Given the description of an element on the screen output the (x, y) to click on. 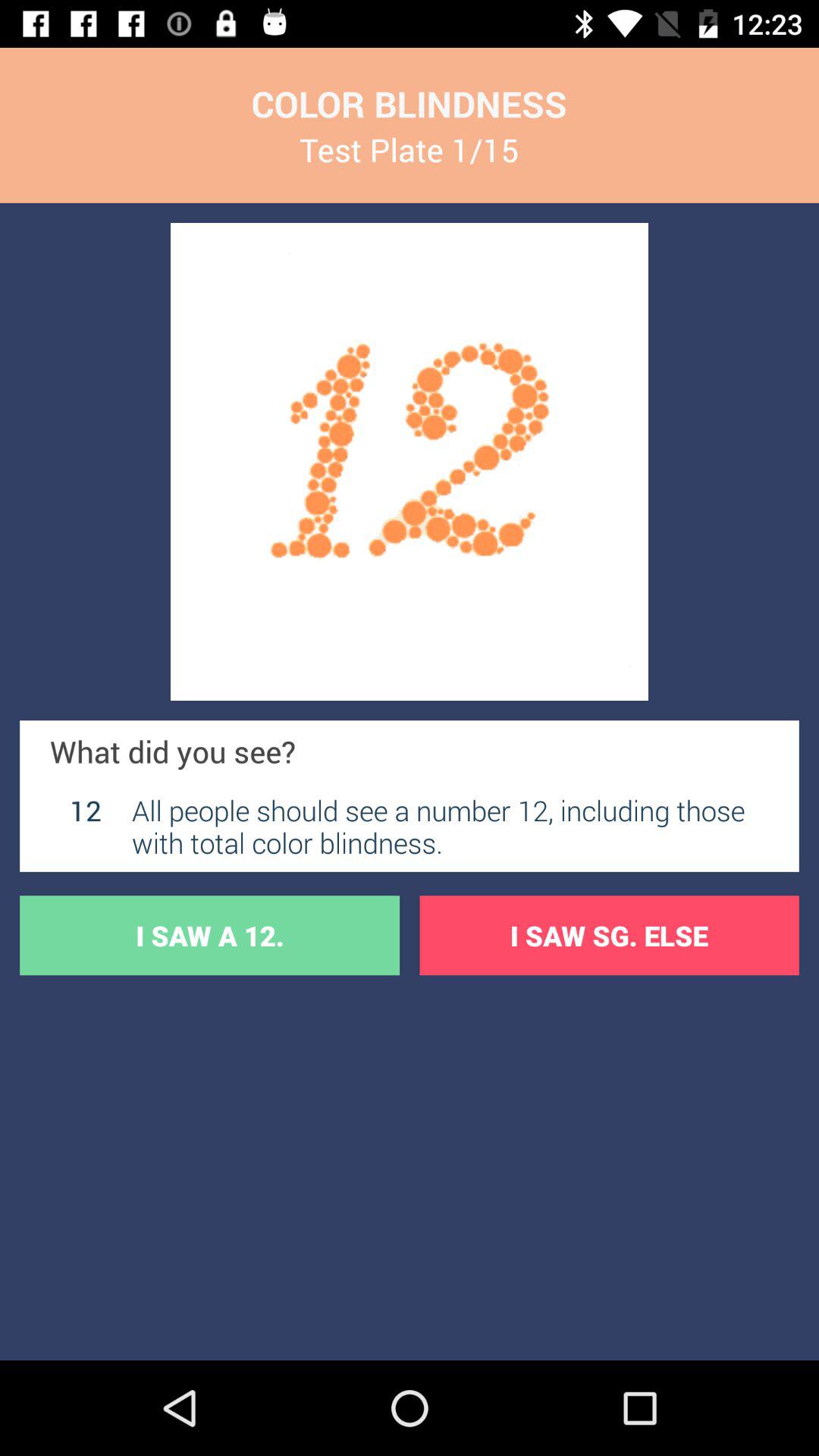
select item above what did you item (409, 461)
